Given the description of an element on the screen output the (x, y) to click on. 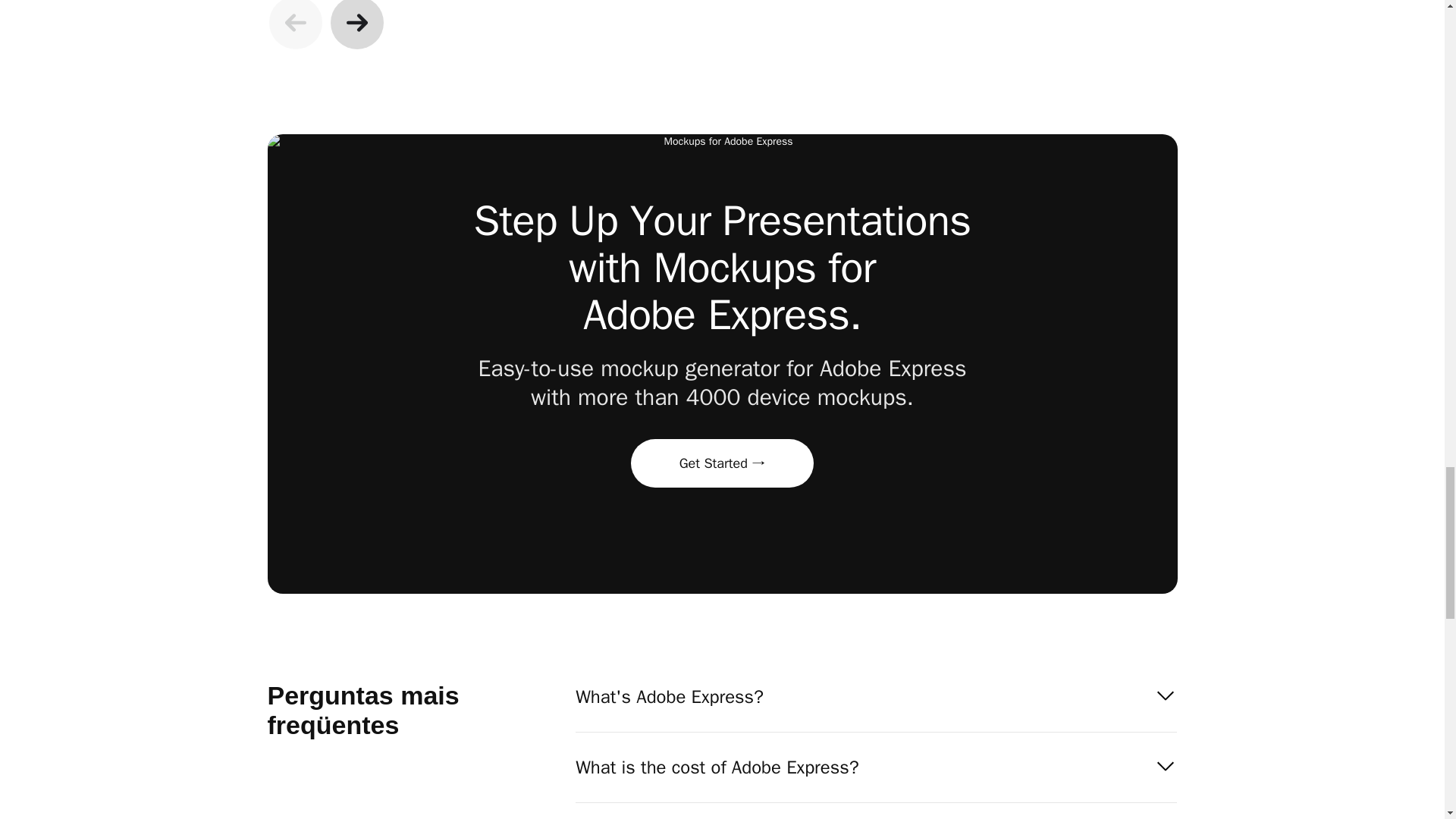
How to create mockups in Adobe Express? (875, 811)
What's Adobe Express? (875, 696)
What is the cost of Adobe Express? (875, 767)
